Given the description of an element on the screen output the (x, y) to click on. 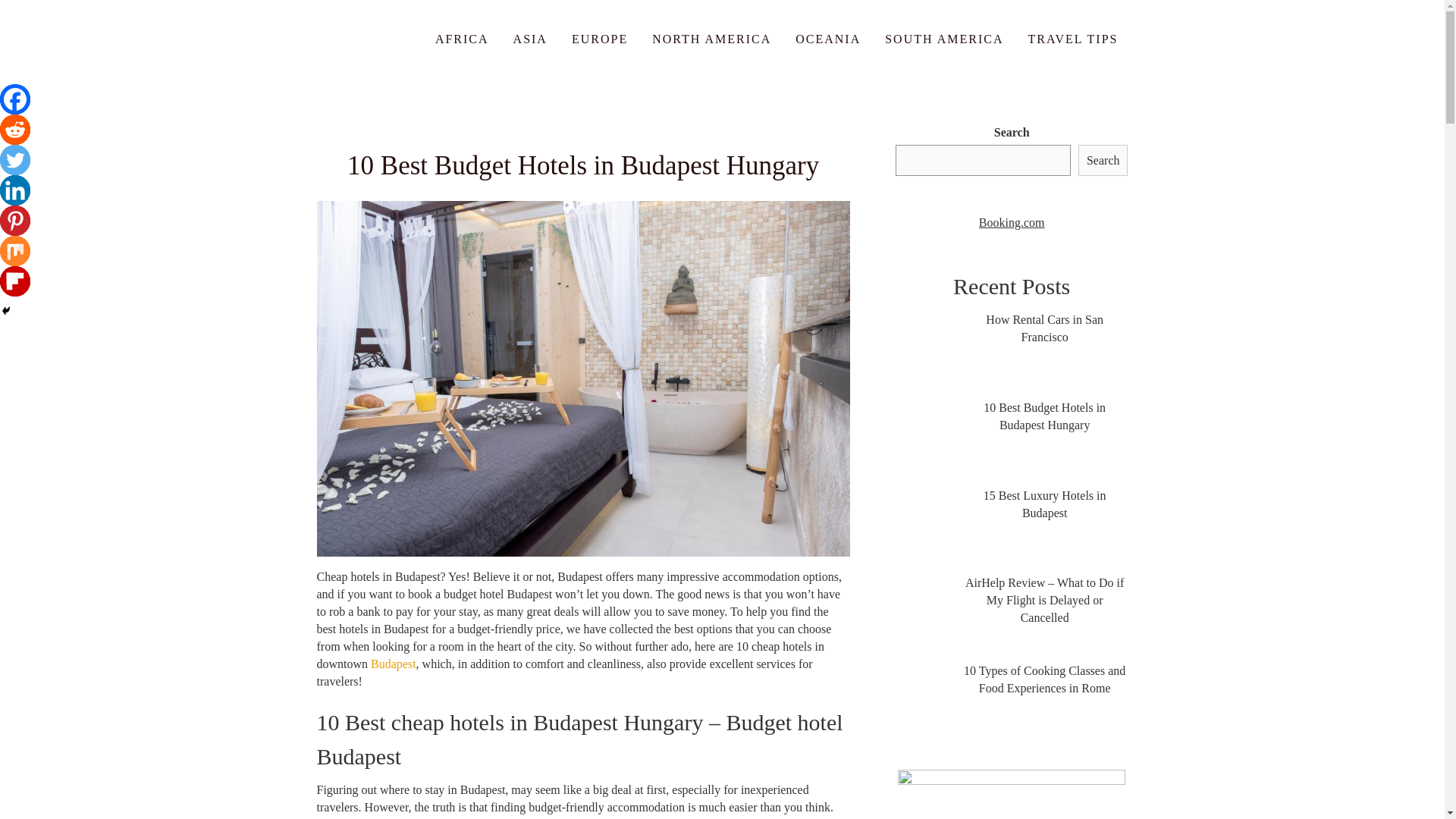
OCEANIA (828, 38)
Linkedin (15, 190)
Mix (15, 250)
Reddit (15, 129)
Twitter (15, 159)
SOUTH AMERICA (944, 38)
TRAVEL TIPS (1071, 38)
EUROPE (599, 38)
Facebook (15, 99)
ASIA (530, 38)
